Given the description of an element on the screen output the (x, y) to click on. 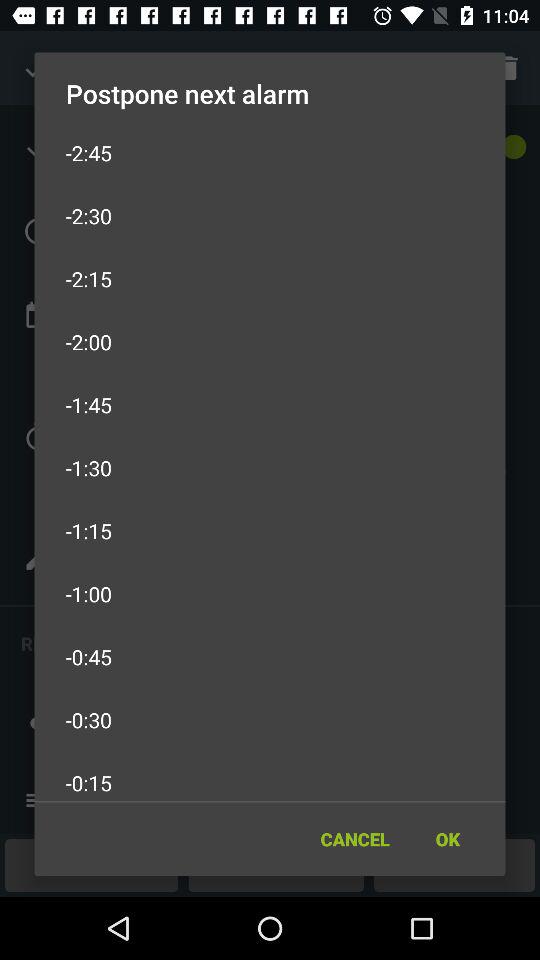
click item at the bottom right corner (447, 838)
